Given the description of an element on the screen output the (x, y) to click on. 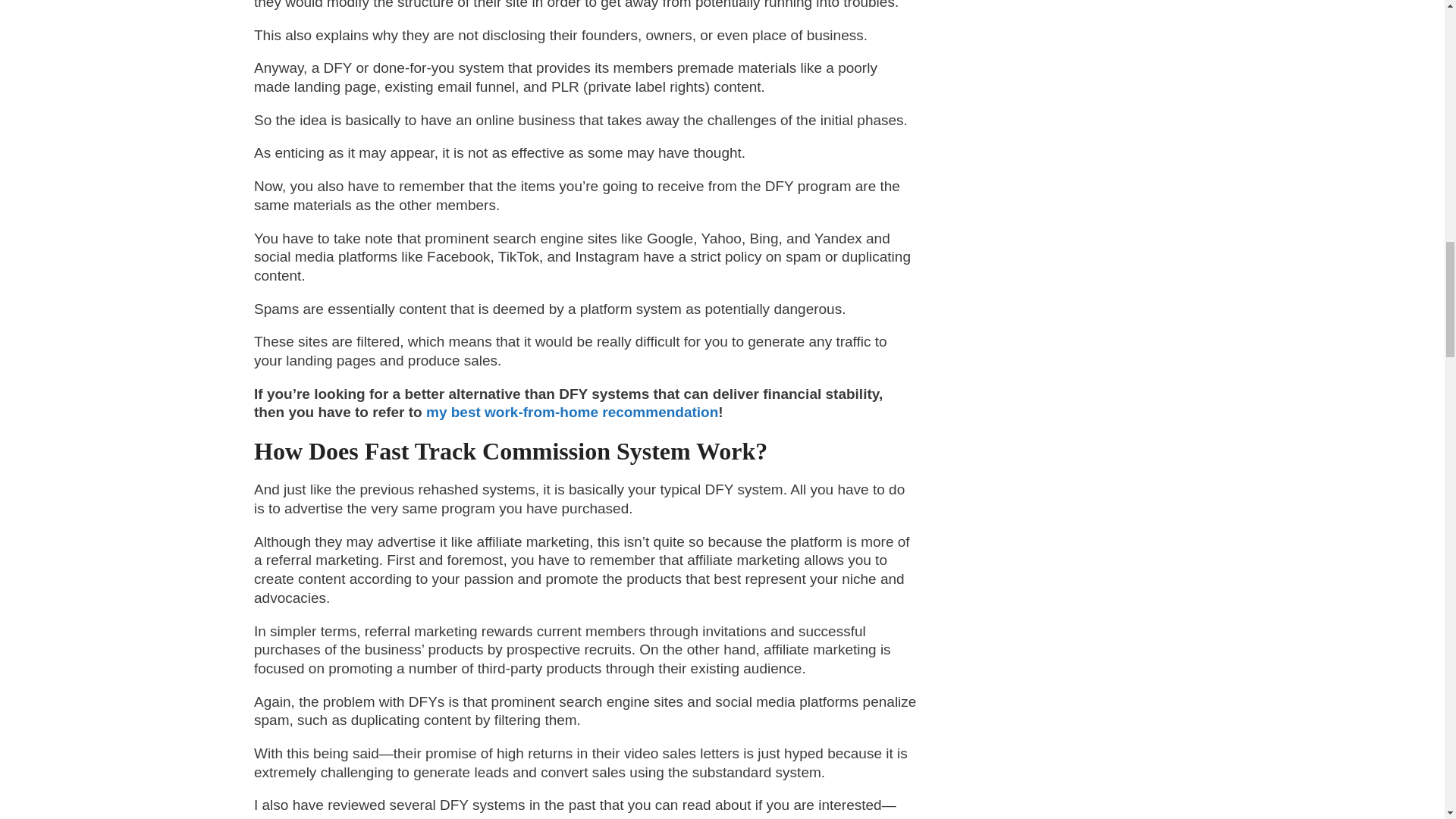
Mastering Online Income (575, 817)
Freedom Launchpad (756, 817)
MYIGGA (282, 817)
Infinity Processing System (401, 817)
my best work-from-home recommendation (570, 412)
